Given the description of an element on the screen output the (x, y) to click on. 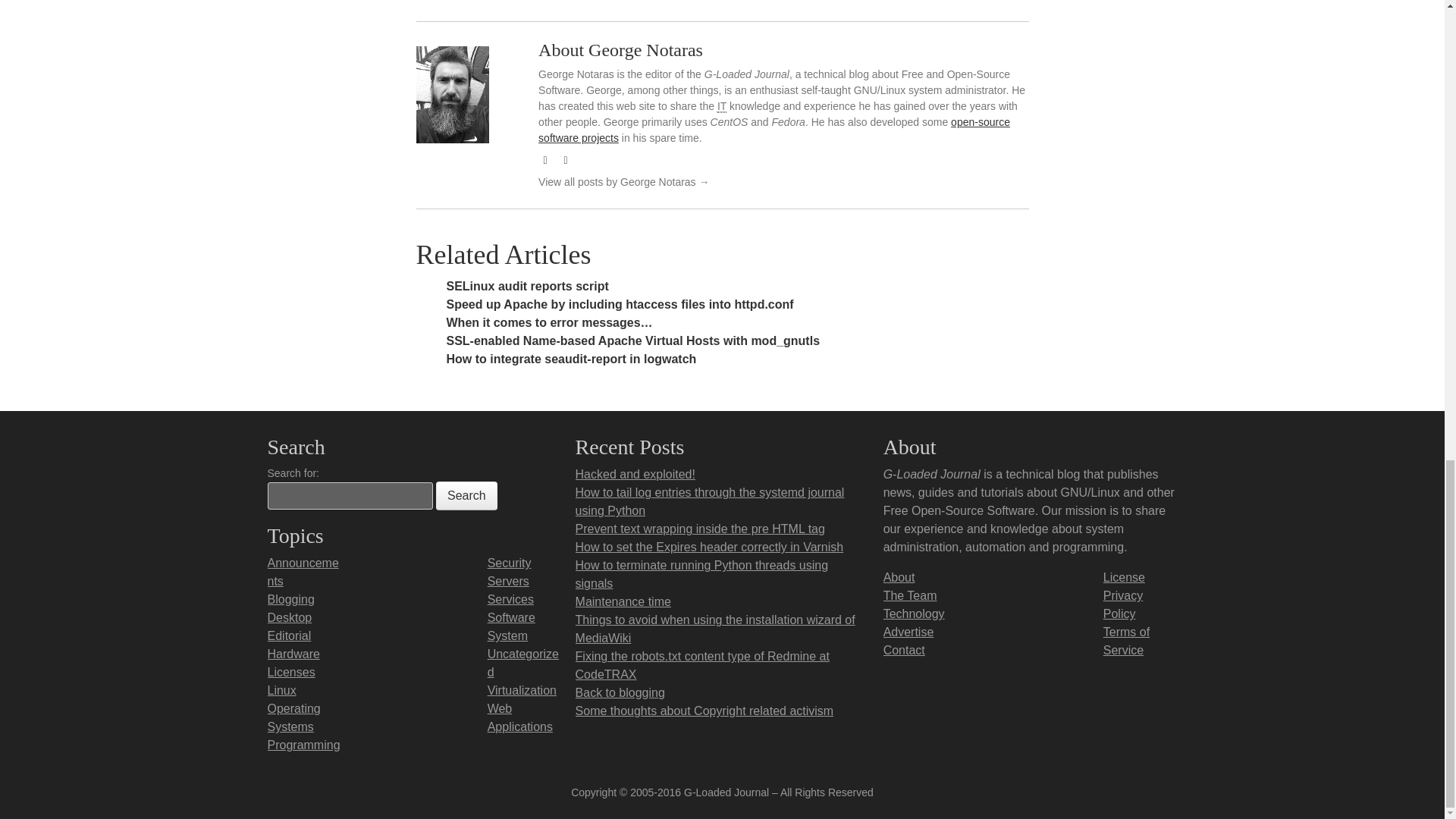
Search (466, 495)
Operating Systems (293, 717)
Speed up Apache by including htaccess files into httpd.conf (619, 304)
Editorial (288, 635)
Announcements (301, 572)
How to integrate seaudit-report in logwatch (570, 358)
SELinux audit reports script (526, 286)
Linux (280, 689)
open-source software projects (774, 130)
Search (466, 495)
